Given the description of an element on the screen output the (x, y) to click on. 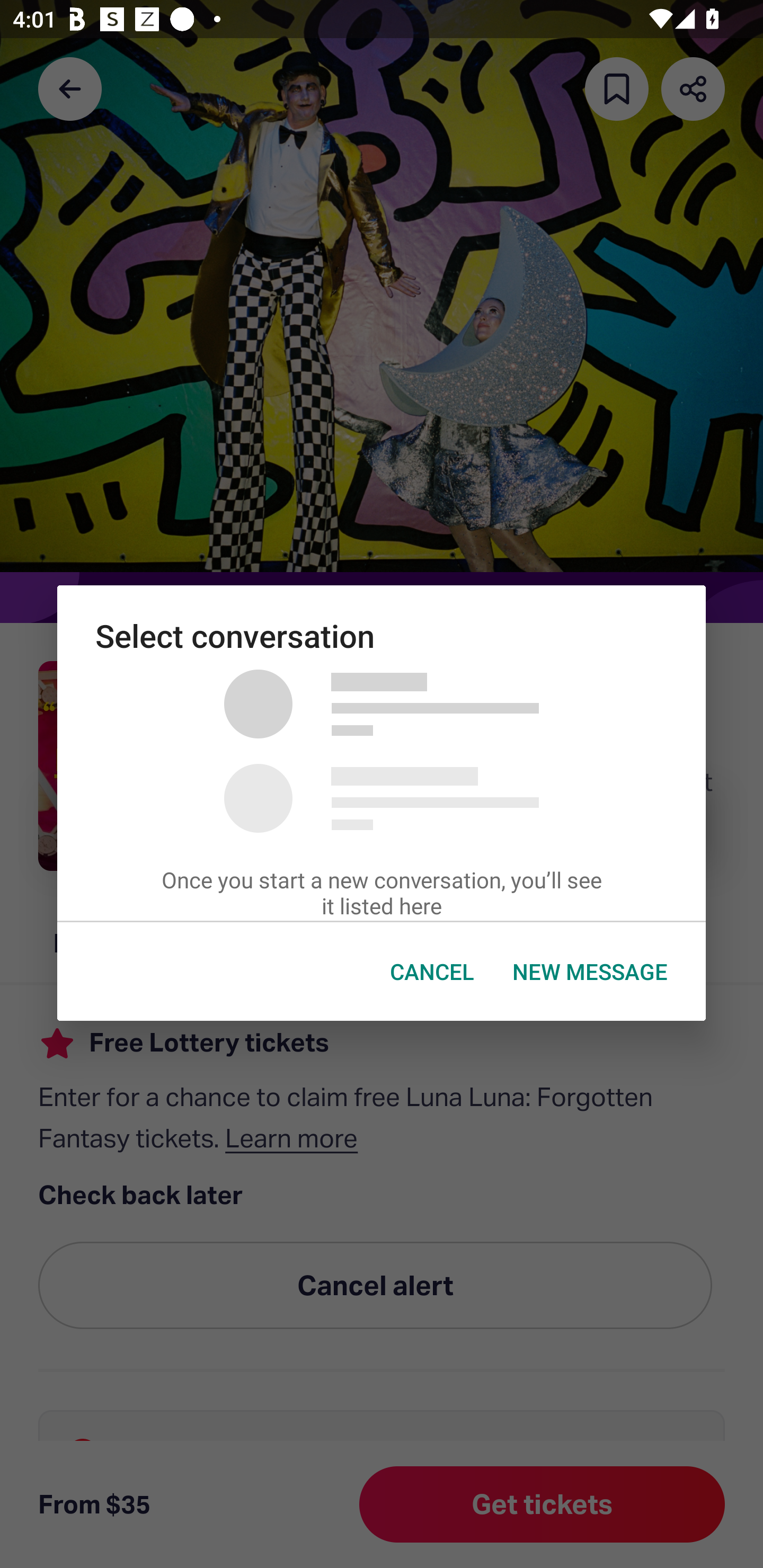
CANCEL (431, 971)
NEW MESSAGE (589, 971)
